Given the description of an element on the screen output the (x, y) to click on. 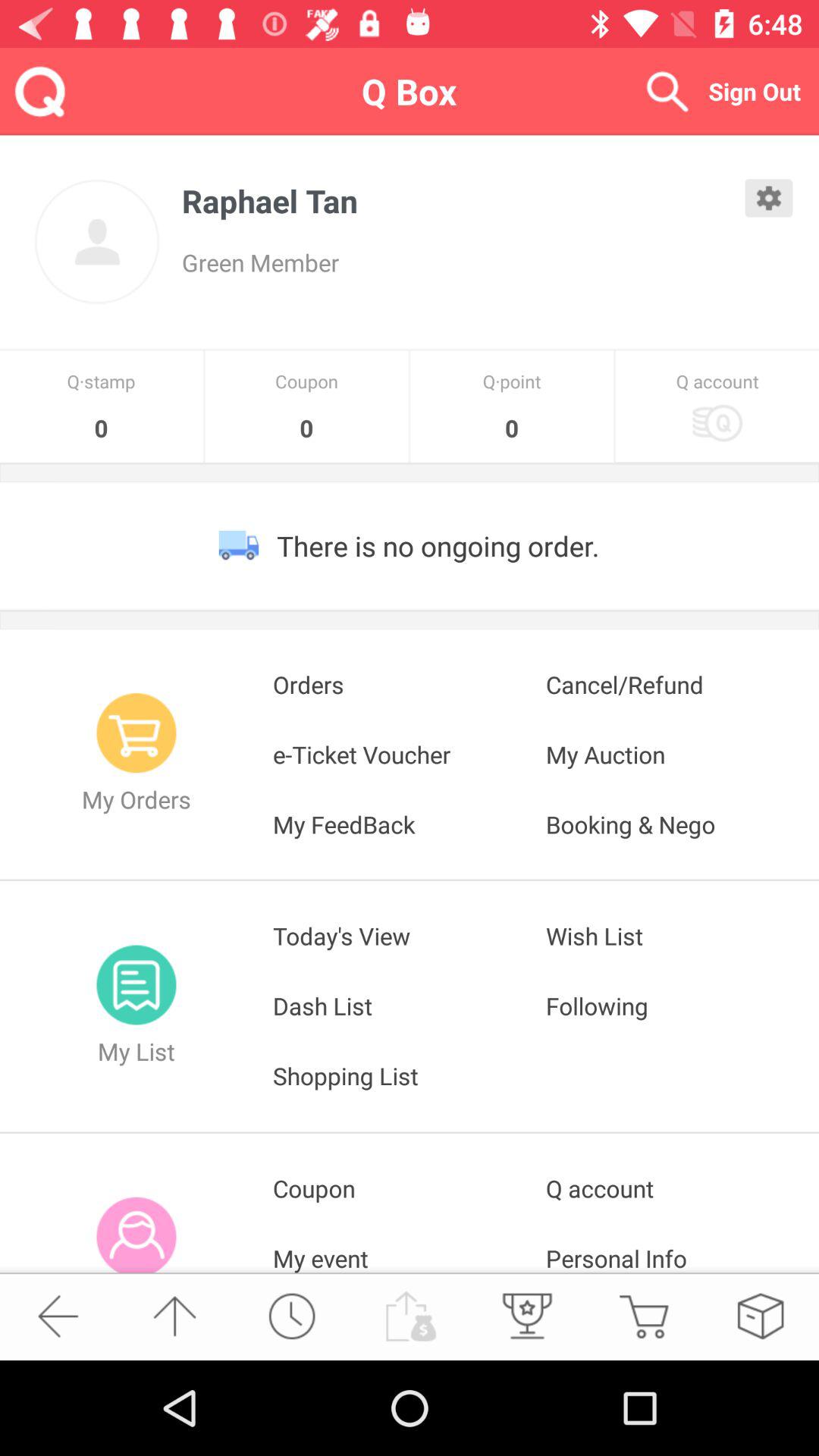
a magnifying glass icon for searching on the app (666, 91)
